Given the description of an element on the screen output the (x, y) to click on. 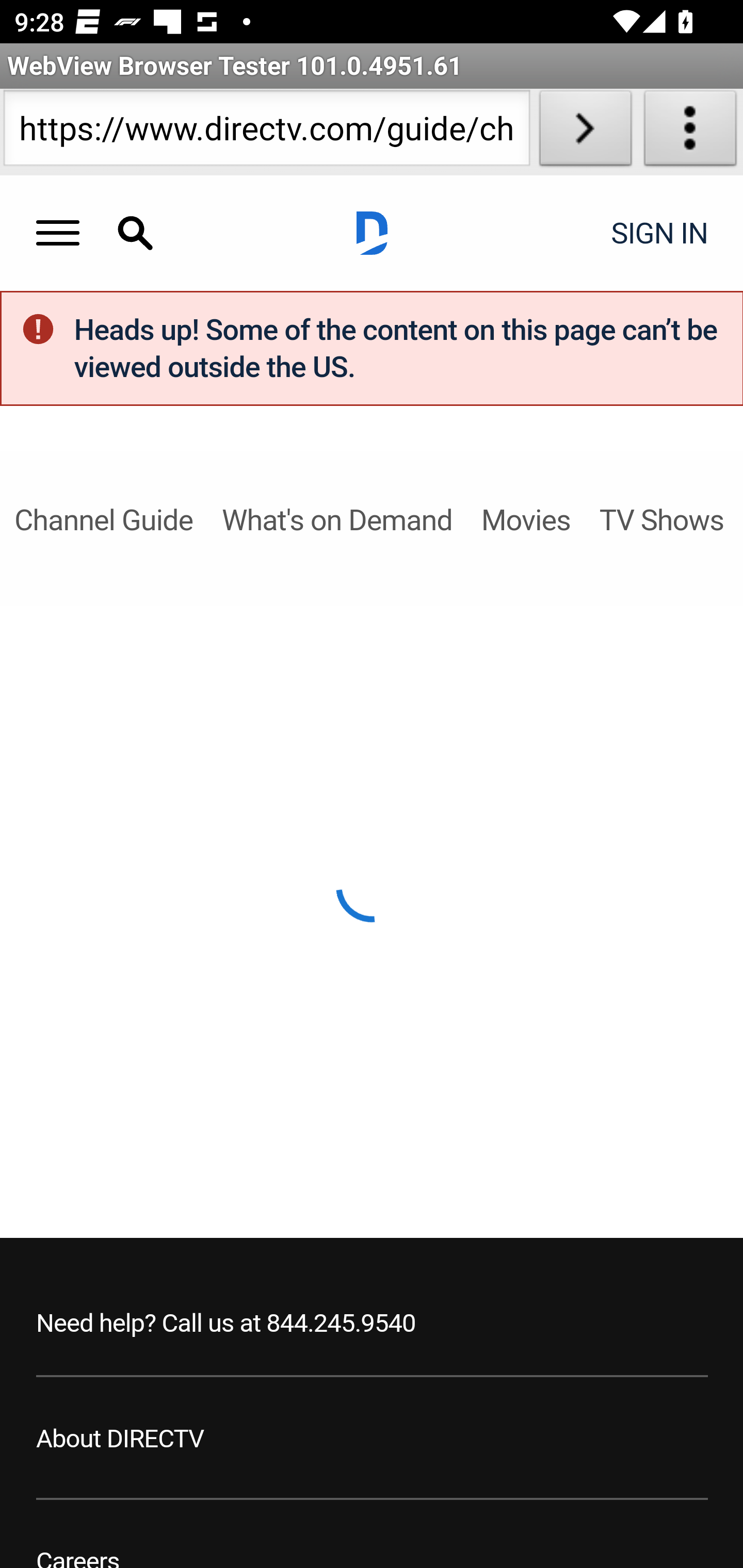
Load URL (585, 132)
About WebView (690, 132)
SIGN IN (653, 232)
Open Menu icon (58, 232)
DirecTV Home (371, 232)
Channel Guide (103, 519)
What's on Demand (336, 519)
Movies (525, 519)
TV Shows (661, 519)
Need help? Call us at 844.245.9540 (226, 1324)
 About DIRECTV  About DIRECTV (120, 1438)
 Careers  Careers (78, 1556)
